Given the description of an element on the screen output the (x, y) to click on. 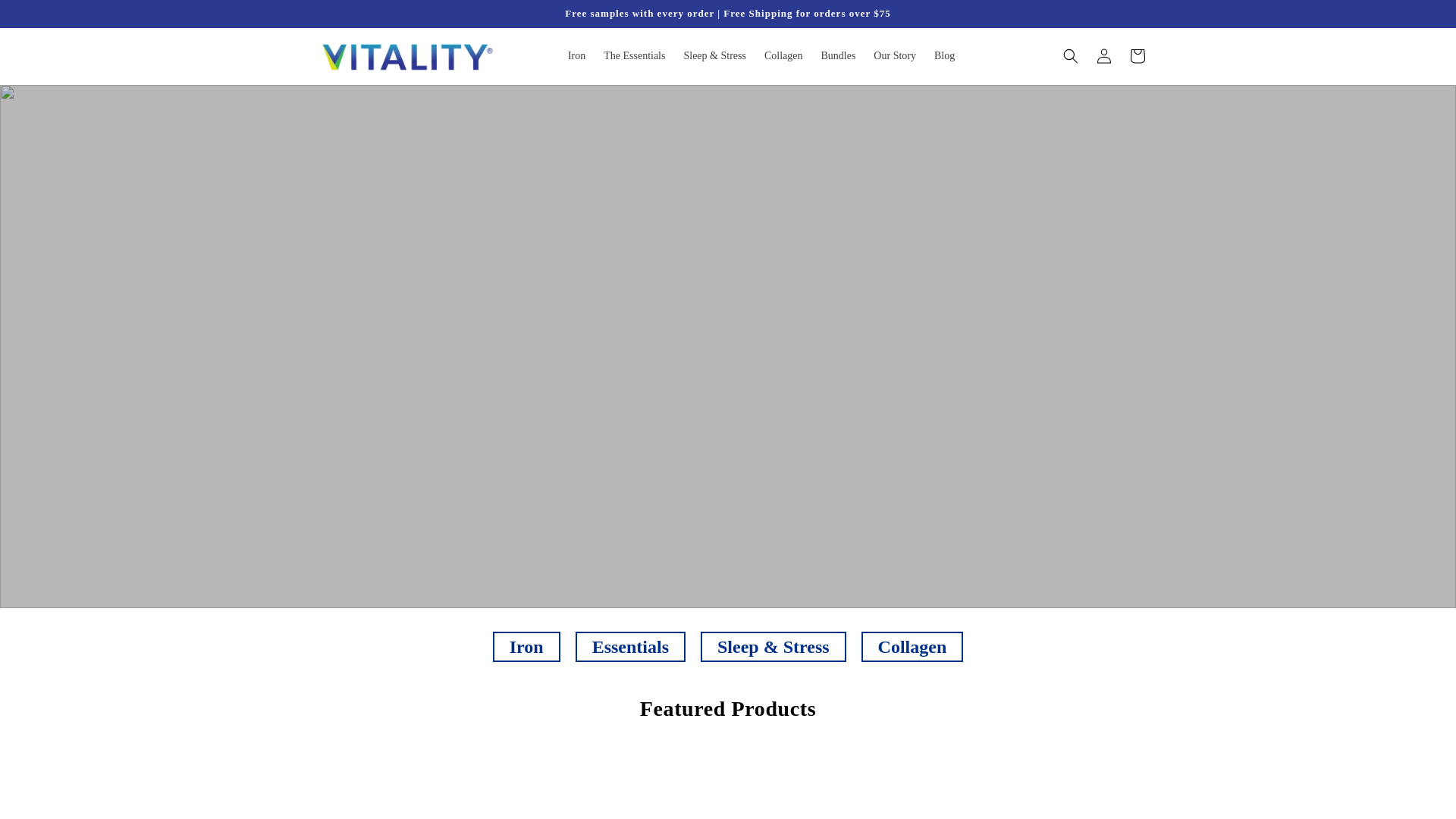
Skip to content (45, 12)
Blog (943, 56)
Collagen (912, 646)
Essentials (630, 646)
Iron (526, 646)
Our Story (894, 56)
Cart (1137, 55)
Collagen (783, 56)
Log in (1104, 55)
Bundles (837, 56)
